Given the description of an element on the screen output the (x, y) to click on. 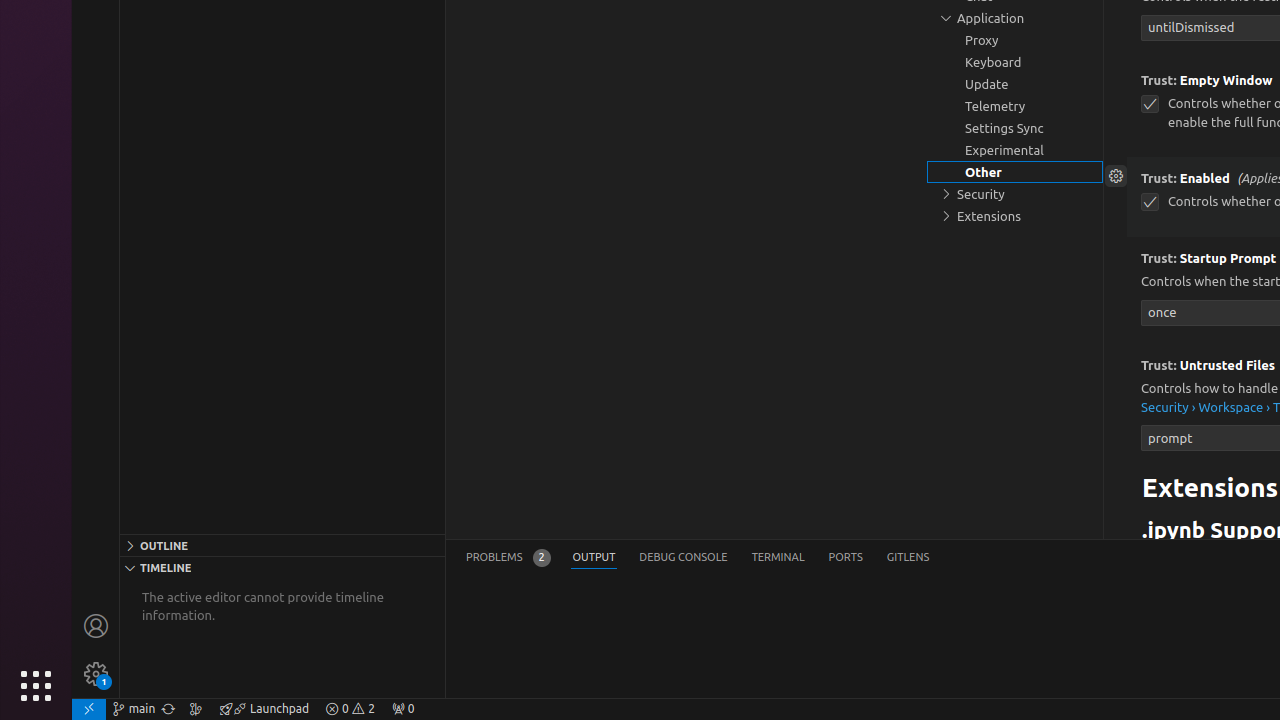
Experimental, group Element type: tree-item (1015, 150)
Problems (Ctrl+Shift+M) - Total 2 Problems Element type: page-tab (507, 557)
Update, group Element type: tree-item (1015, 84)
Warnings: 2 Element type: push-button (350, 709)
Extensions, group Element type: tree-item (1015, 216)
